Given the description of an element on the screen output the (x, y) to click on. 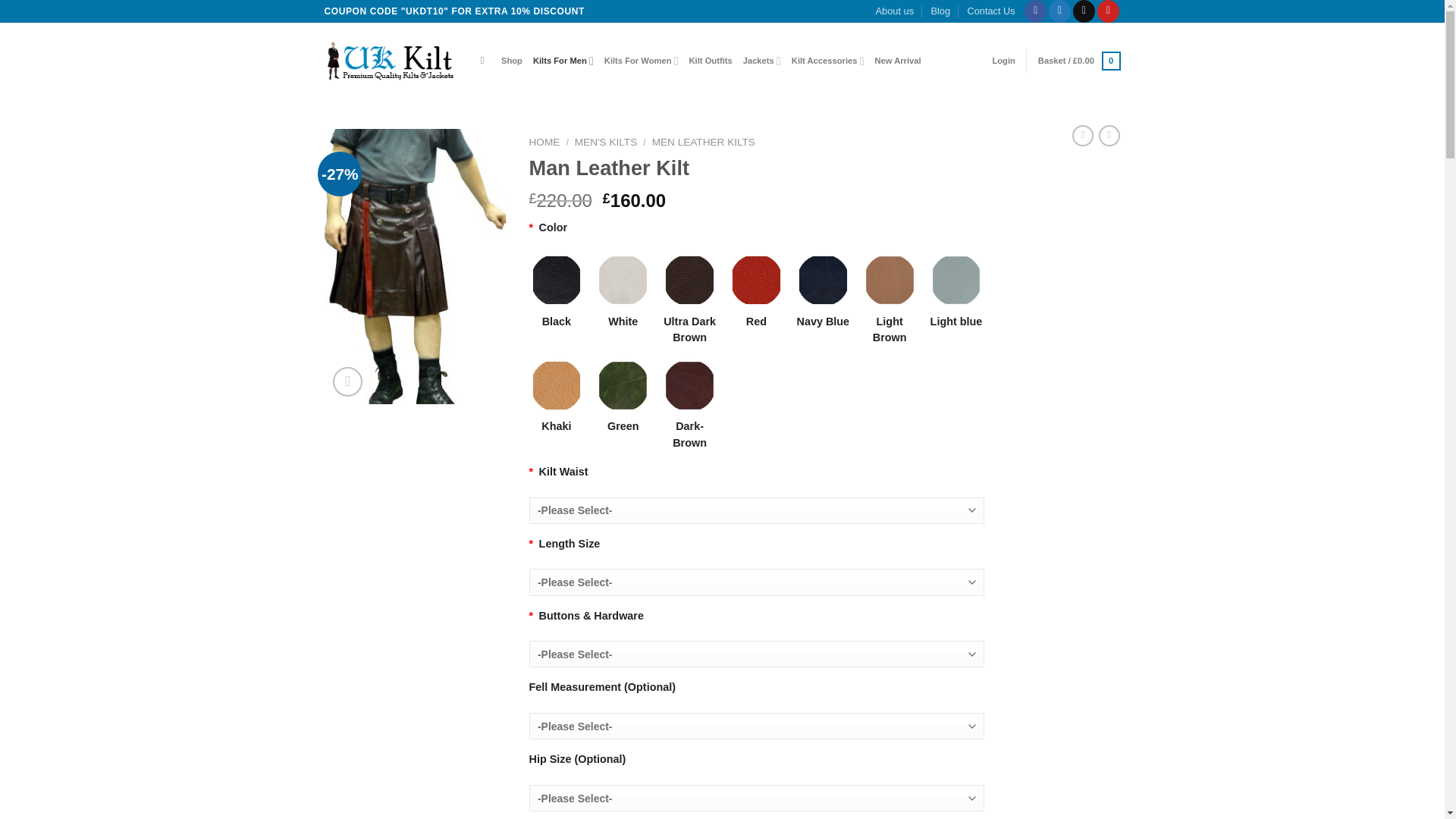
Zoom (347, 381)
Follow on Pinterest (1108, 11)
About us (895, 11)
Send us an email (1083, 11)
Jackets (761, 60)
Follow on Facebook (1035, 11)
Kilts For Women (641, 60)
Contact Us (990, 11)
Kilts For Men (563, 60)
Follow on Twitter (1059, 11)
Basket (1079, 60)
Kilt Outfits (710, 60)
